Given the description of an element on the screen output the (x, y) to click on. 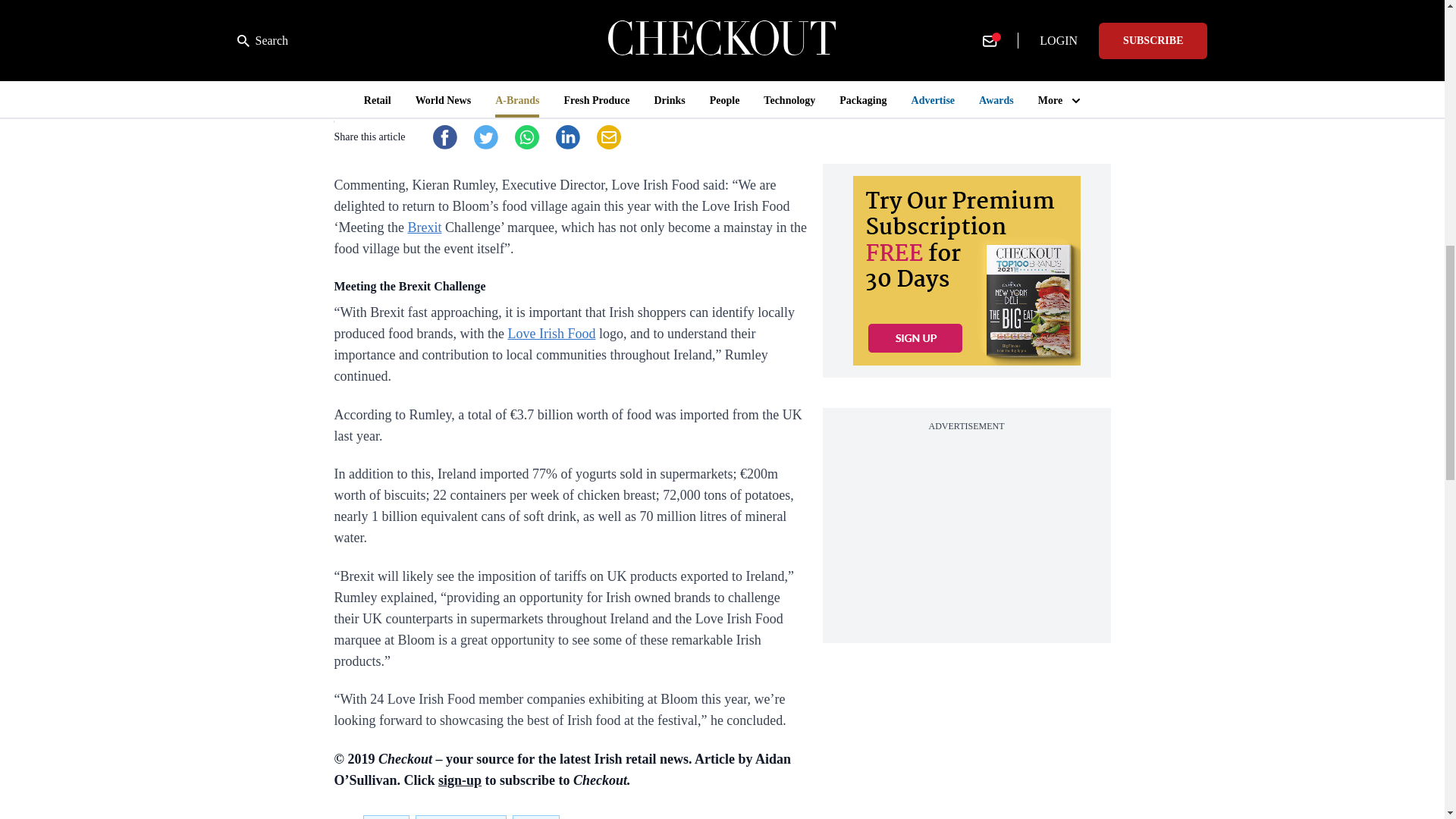
Love Irish Food (550, 333)
Brexit (424, 227)
